Given the description of an element on the screen output the (x, y) to click on. 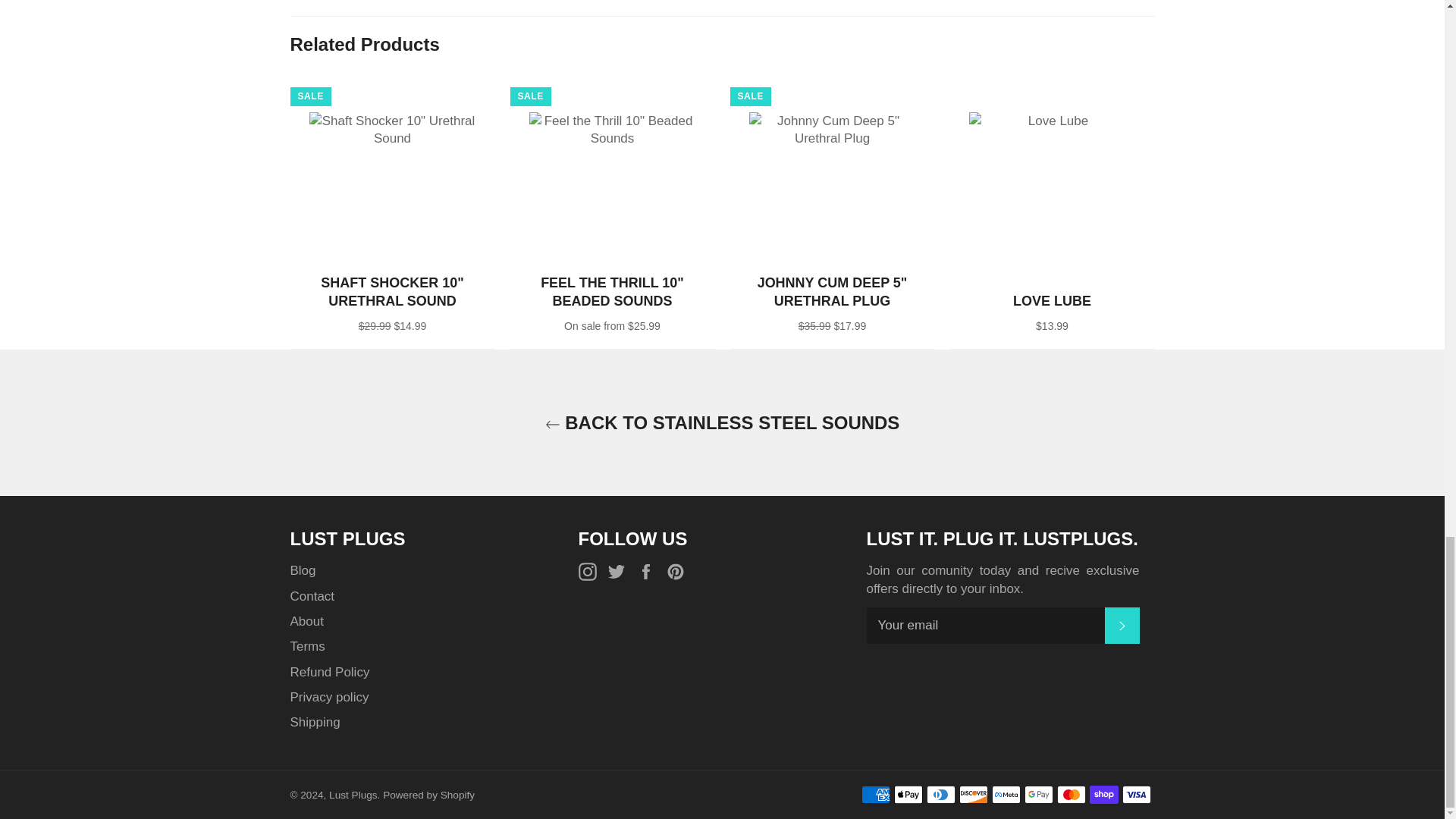
Lust Plugs on Instagram (591, 570)
Lust Plugs on Twitter (620, 570)
Lust Plugs on Facebook (649, 570)
Lust Plugs on Pinterest (679, 570)
